Given the description of an element on the screen output the (x, y) to click on. 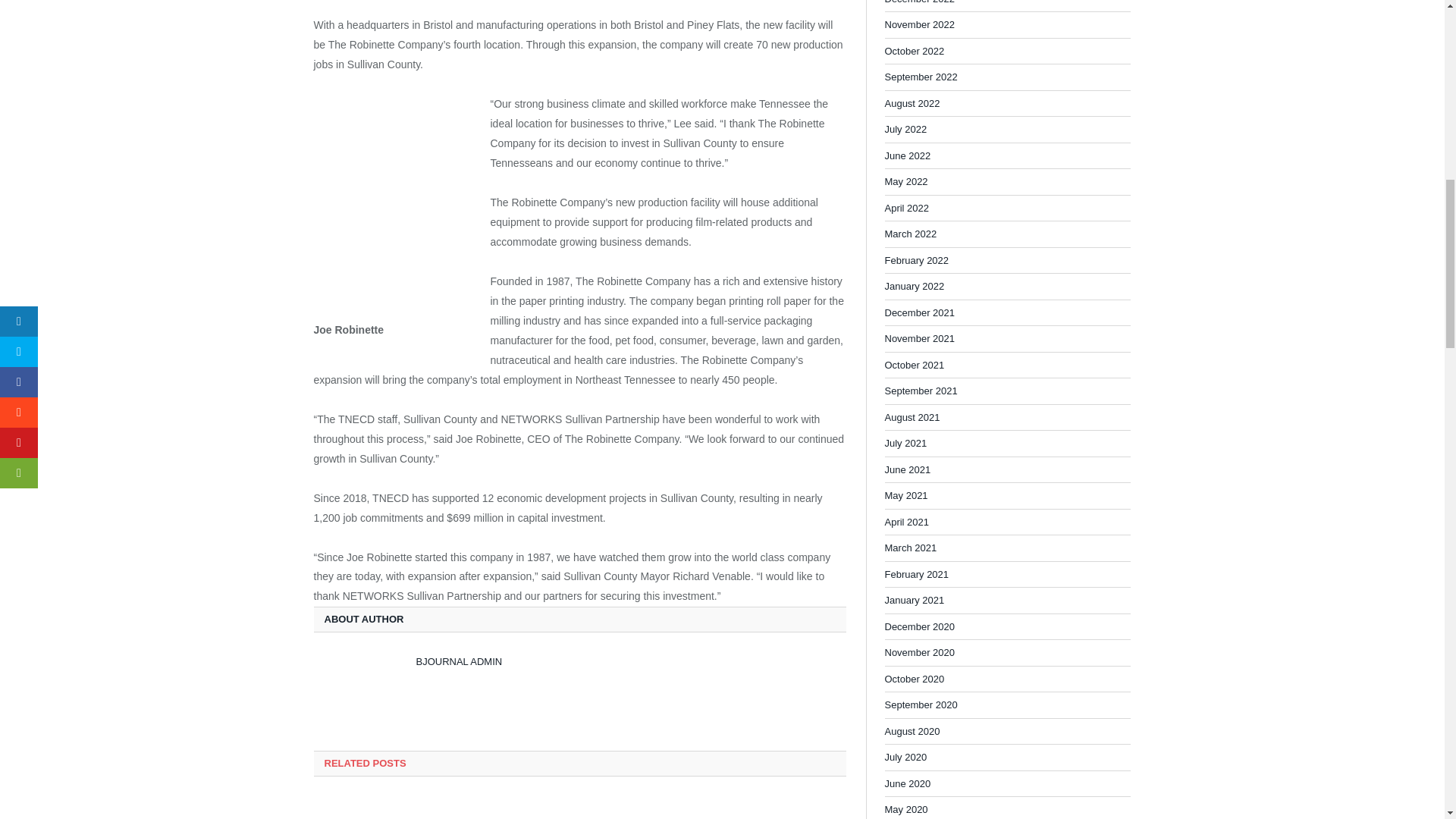
BJOURNAL ADMIN (458, 661)
Luxury homes selling fast across region (395, 808)
Region links outdoor recreation with economic progress (579, 808)
Posts by BJournal Admin (458, 661)
